Given the description of an element on the screen output the (x, y) to click on. 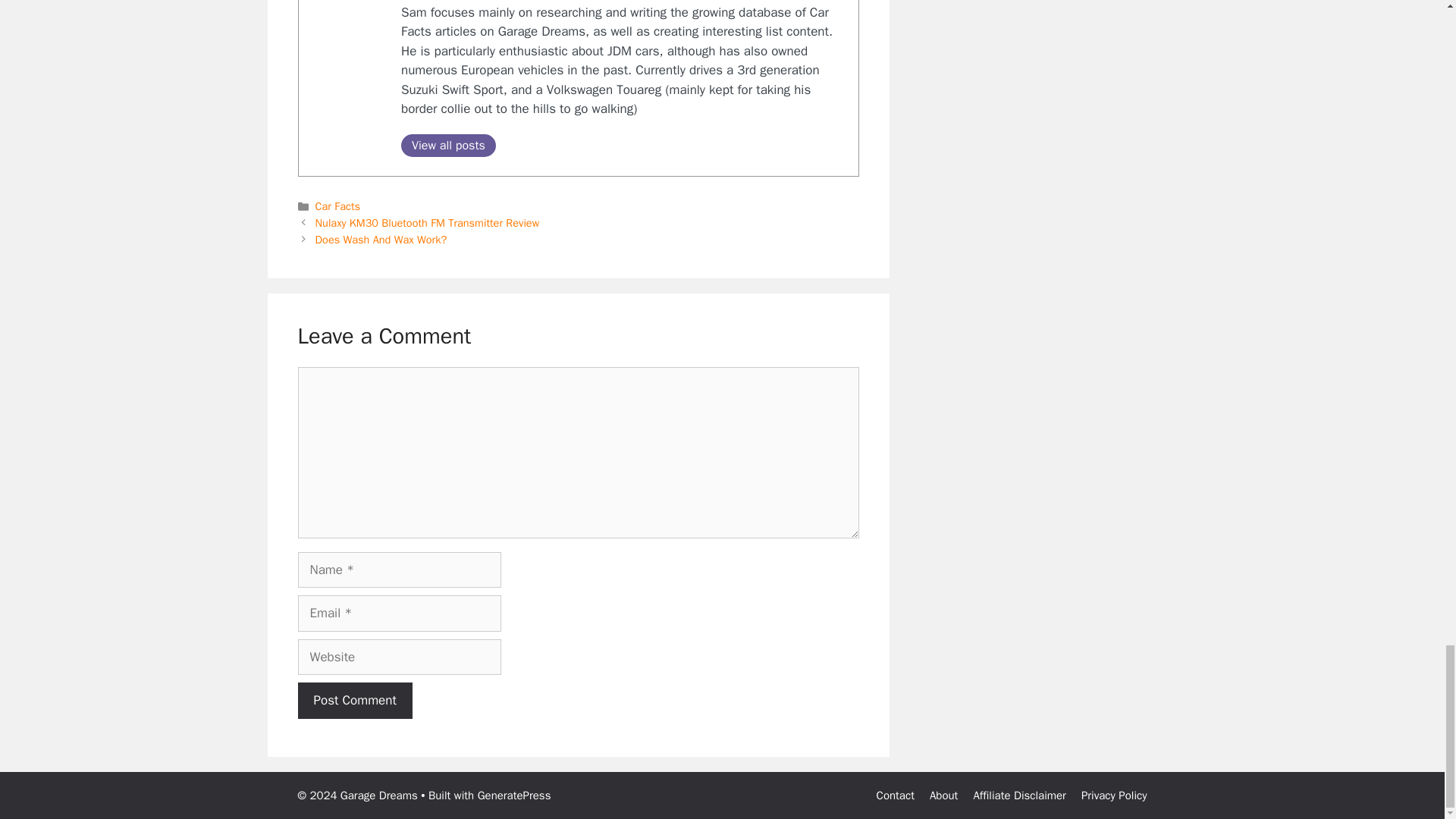
Car Facts (337, 205)
View all posts (448, 145)
Nulaxy KM30 Bluetooth FM Transmitter Review (427, 223)
Post Comment (354, 700)
View all posts (448, 145)
Post Comment (354, 700)
Does Wash And Wax Work? (380, 239)
